Given the description of an element on the screen output the (x, y) to click on. 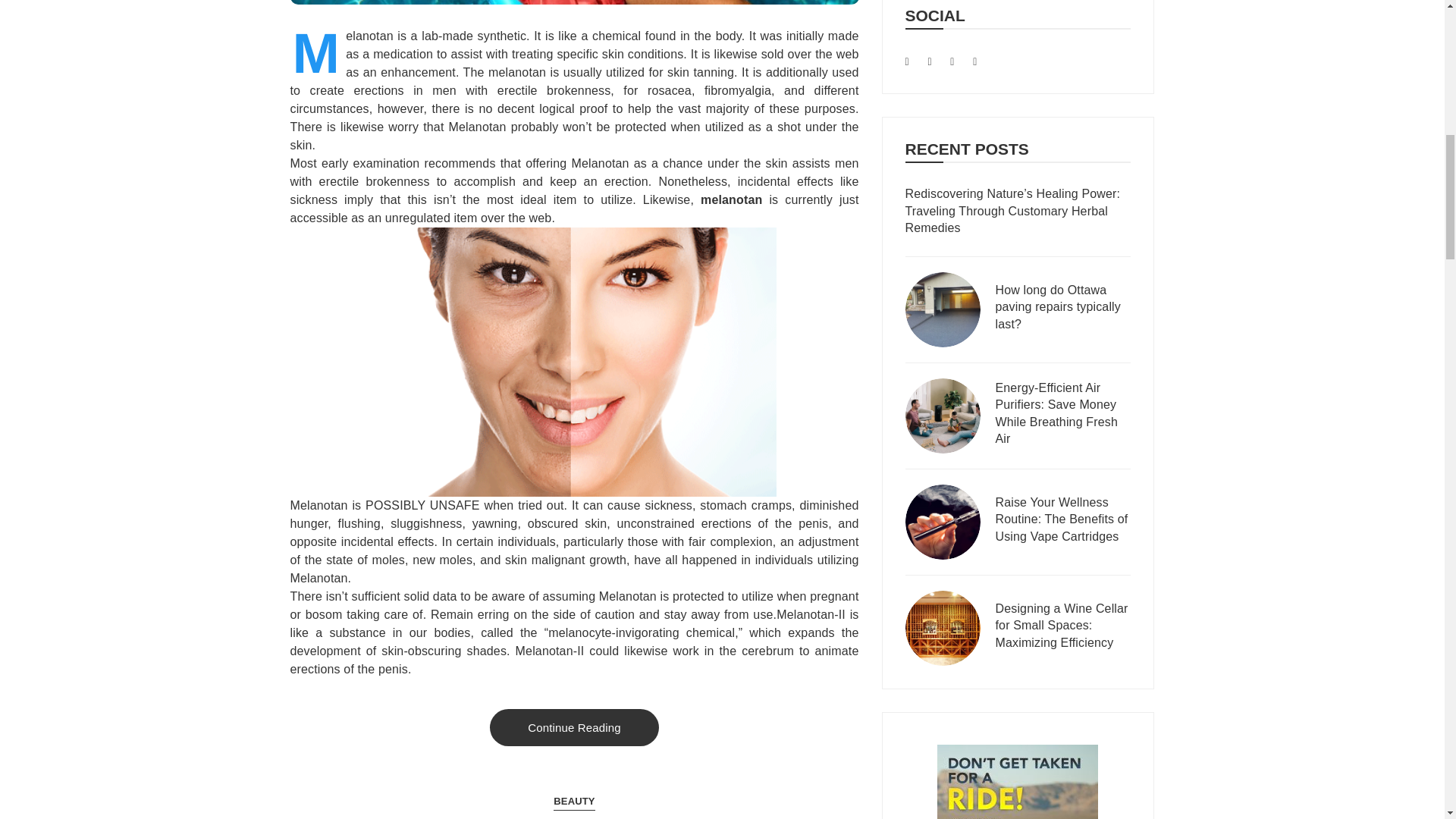
Continue Reading (574, 727)
melanotan (730, 199)
BEAUTY (573, 801)
How long do Ottawa paving repairs typically last? (1062, 308)
